Given the description of an element on the screen output the (x, y) to click on. 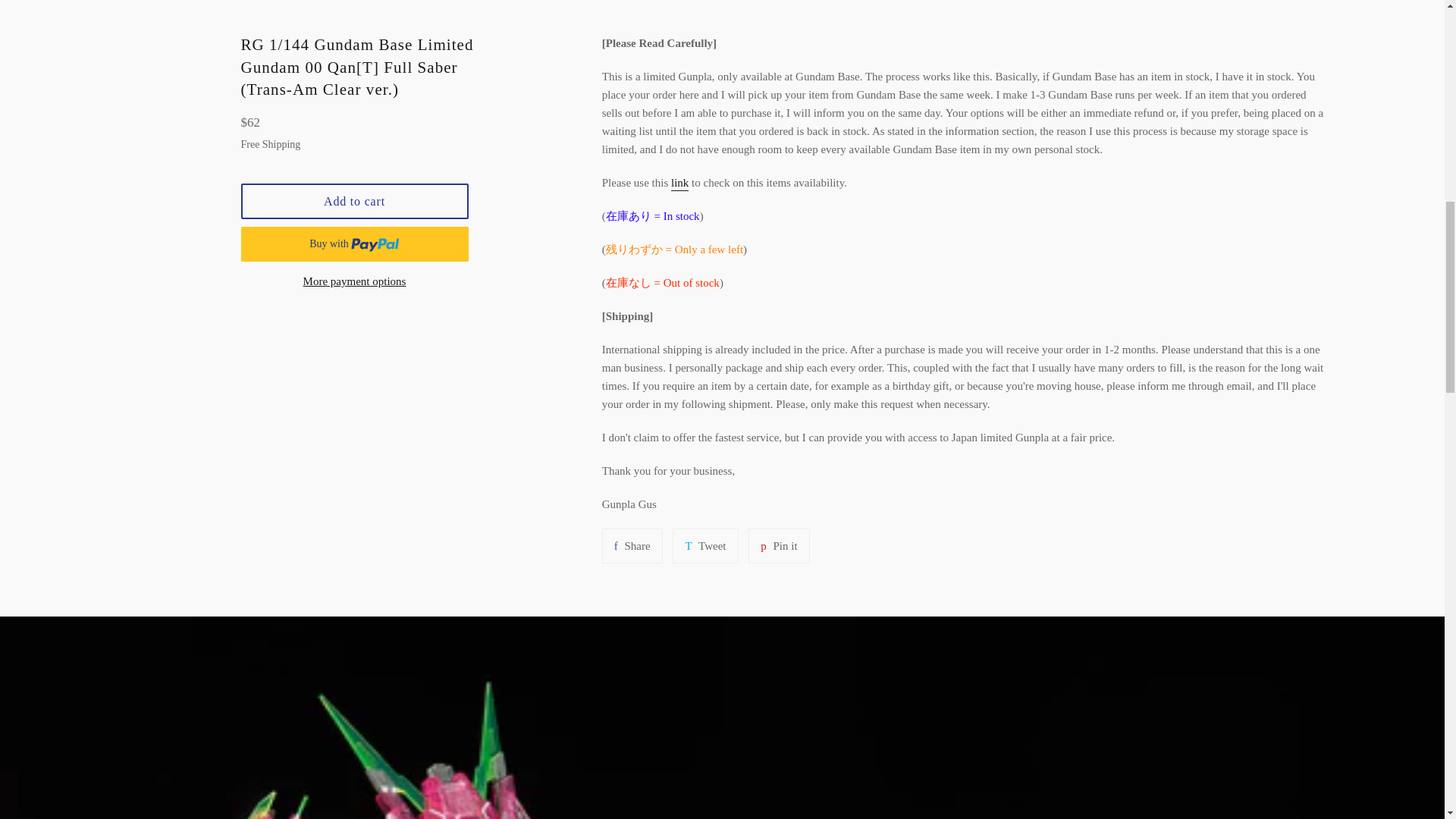
Pin on Pinterest (778, 545)
Tweet on Twitter (705, 545)
Share on Facebook (632, 545)
link (679, 183)
